Given the description of an element on the screen output the (x, y) to click on. 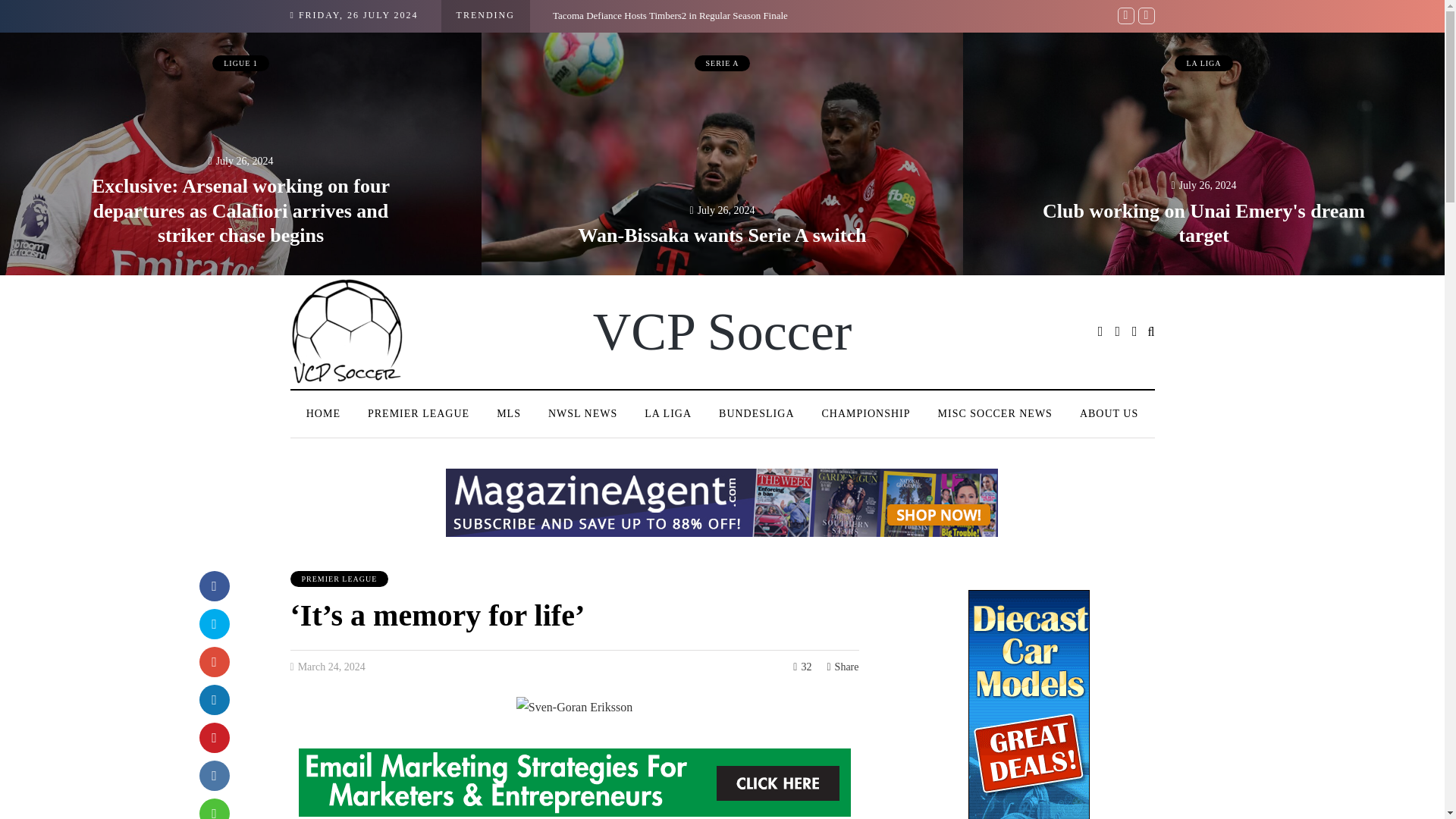
Tacoma Defiance Hosts Timbers2 in Regular Season Finale (670, 15)
